Given the description of an element on the screen output the (x, y) to click on. 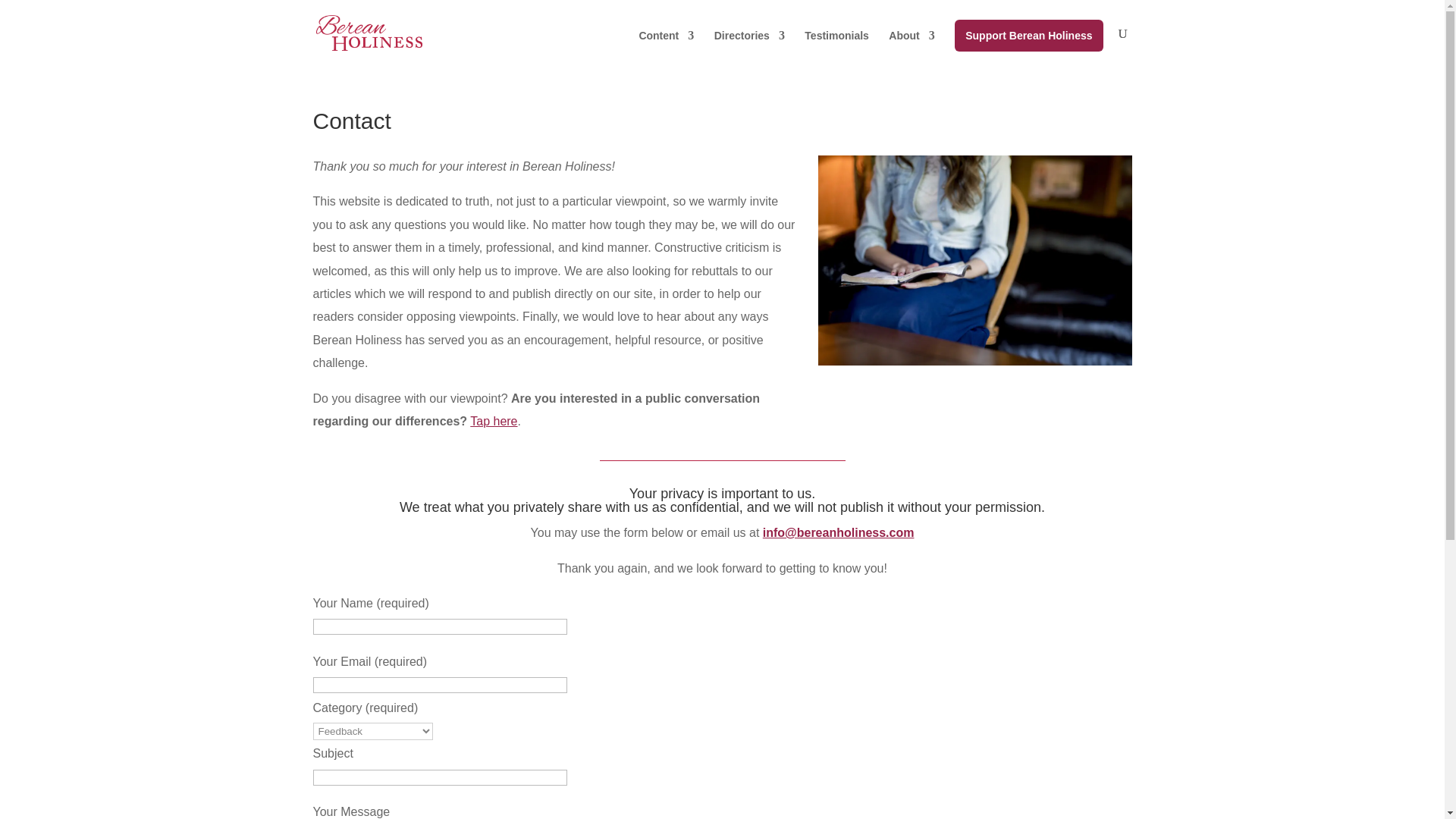
Tap here (493, 420)
Content (666, 48)
Directories (749, 48)
Testimonials (837, 48)
Support Berean Holiness (1028, 35)
About (911, 48)
Woman in skirt reading Bible (973, 260)
